Given the description of an element on the screen output the (x, y) to click on. 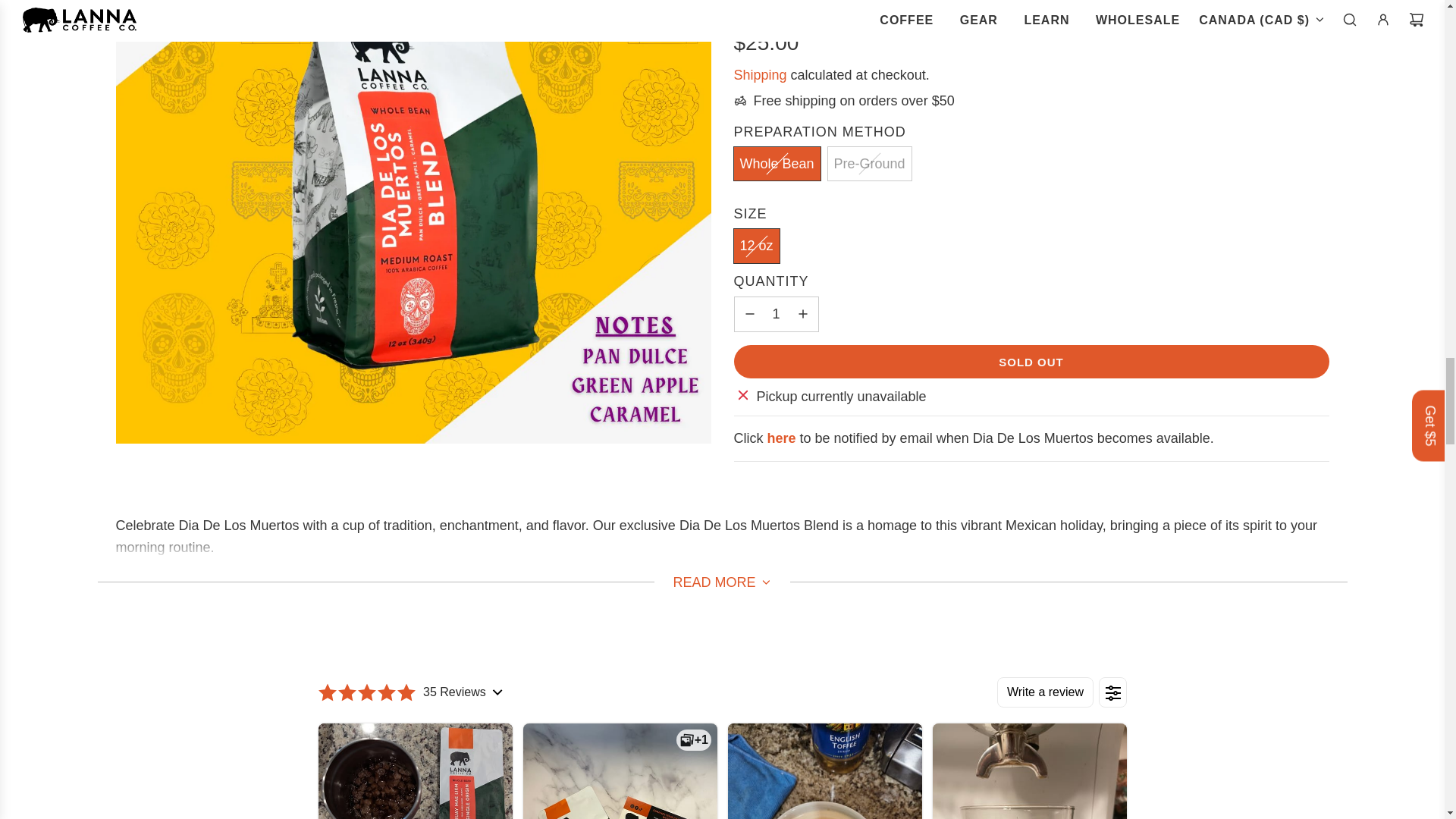
All product reviews widget (722, 740)
